Given the description of an element on the screen output the (x, y) to click on. 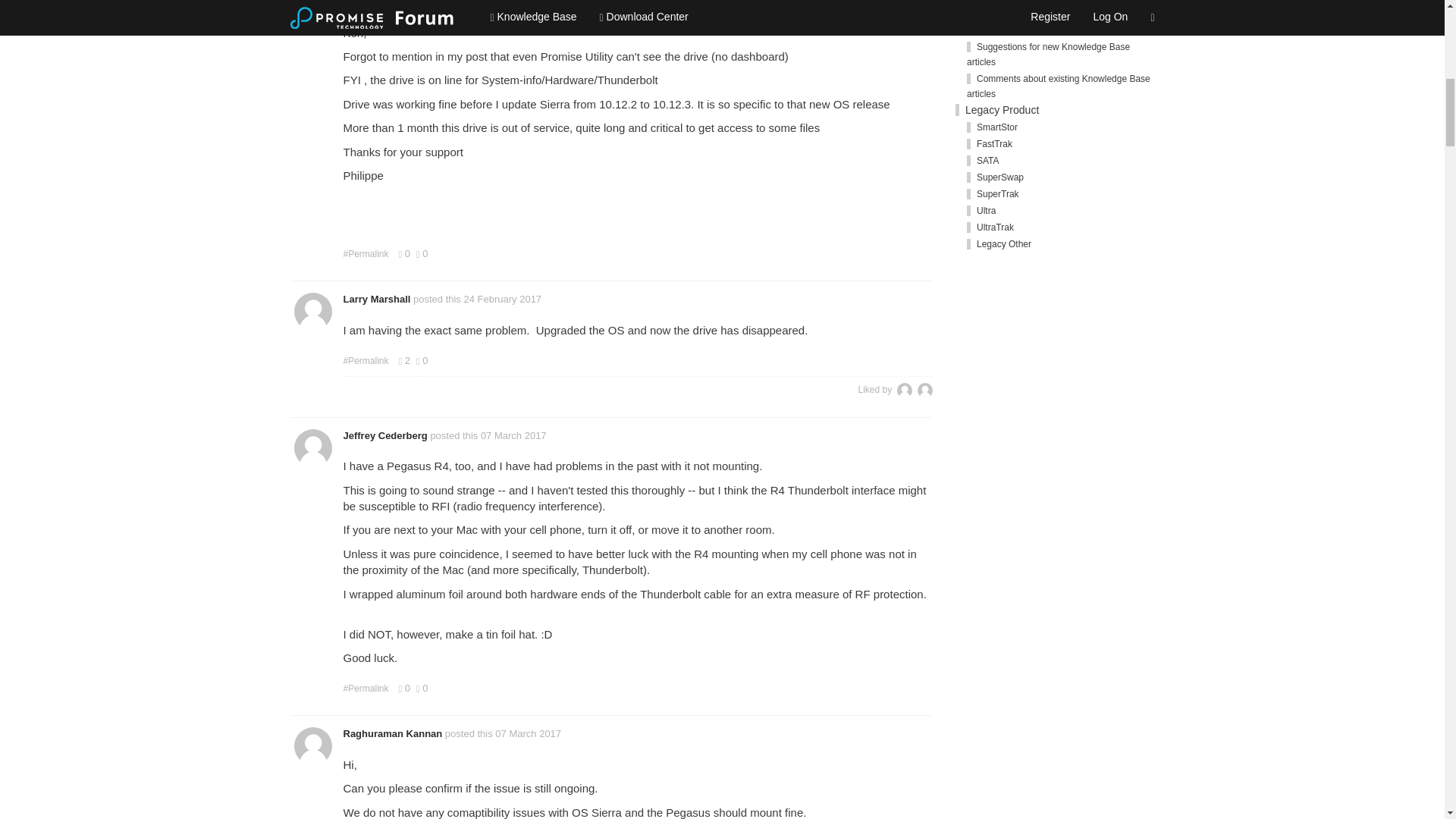
B Hud (925, 390)
Richard Welter (904, 390)
Larry Marshall (376, 298)
philippe menegatti (385, 3)
